Given the description of an element on the screen output the (x, y) to click on. 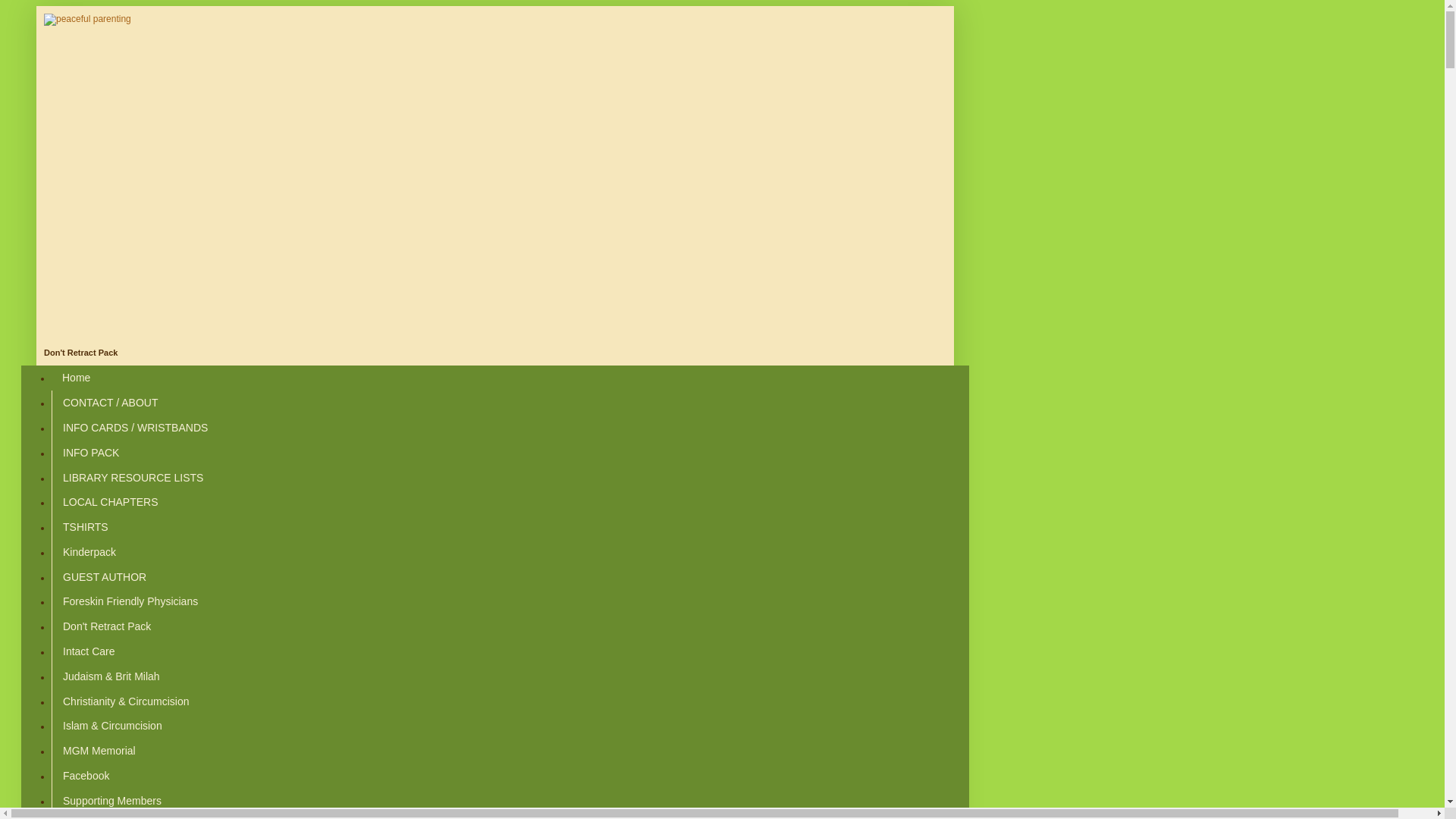
Discussion Groups (106, 816)
Don't Retract Pack (105, 626)
GUEST AUTHOR (103, 576)
LOCAL CHAPTERS (109, 502)
INFO PACK (89, 452)
Home (75, 377)
Intact Care (87, 651)
TSHIRTS (84, 527)
Facebook (84, 774)
LIBRARY RESOURCE LISTS (132, 477)
Kinderpack (88, 551)
MGM Memorial (98, 750)
Supporting Members (110, 800)
Foreskin Friendly Physicians (129, 601)
